Given the description of an element on the screen output the (x, y) to click on. 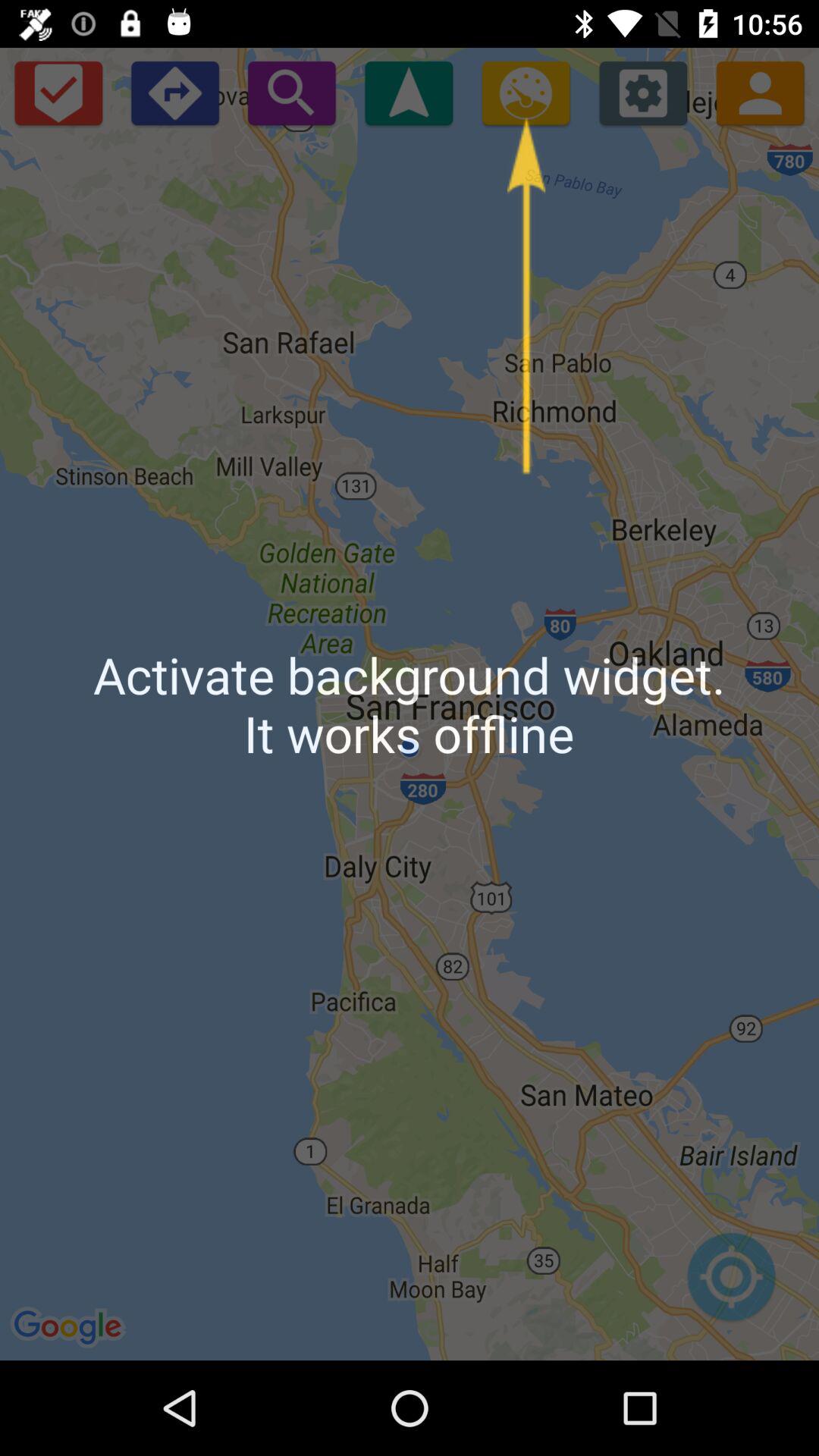
click to search (291, 92)
